Given the description of an element on the screen output the (x, y) to click on. 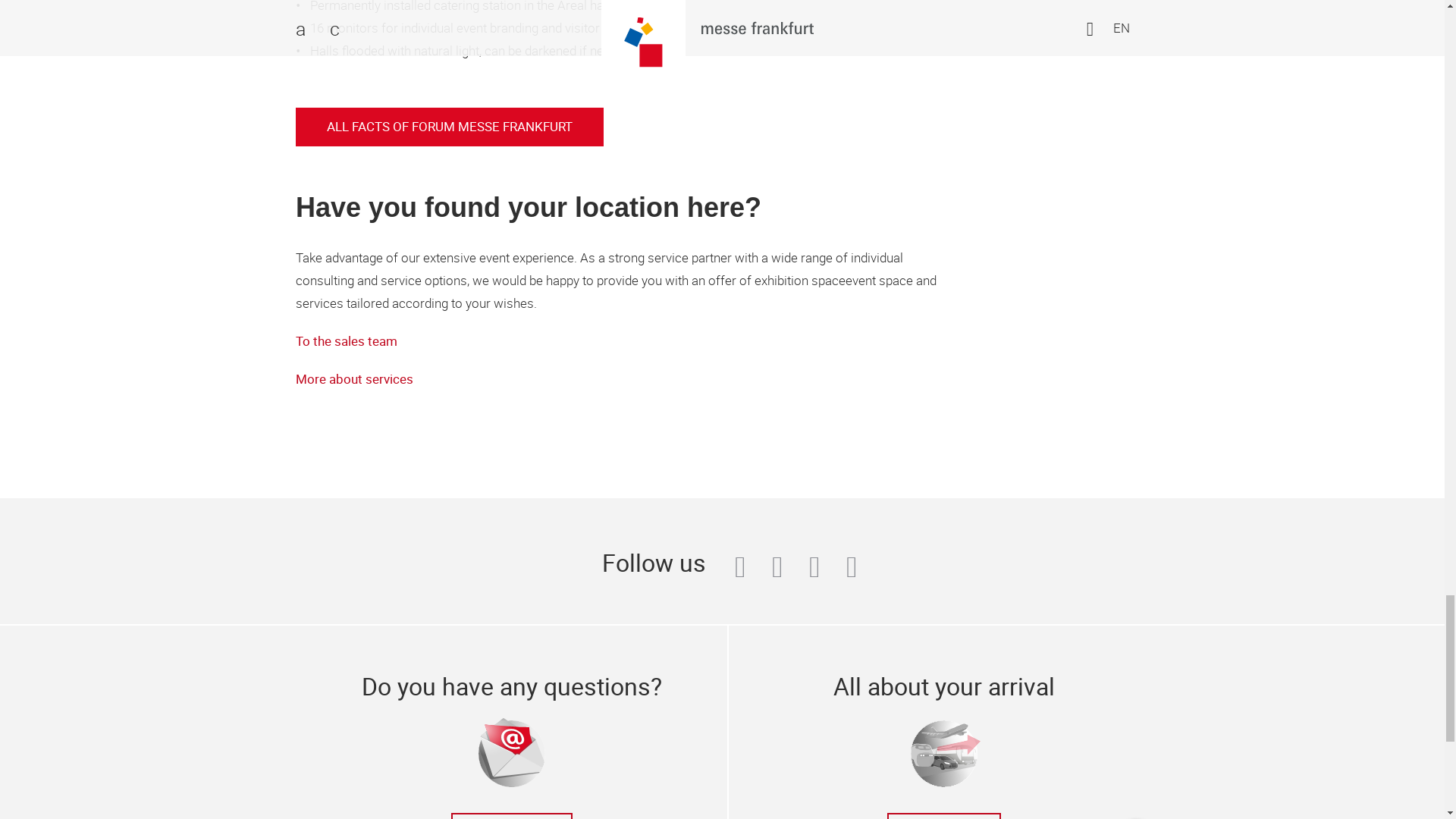
Link to contact for organisers (346, 340)
Link to services for organisers (354, 379)
